Given the description of an element on the screen output the (x, y) to click on. 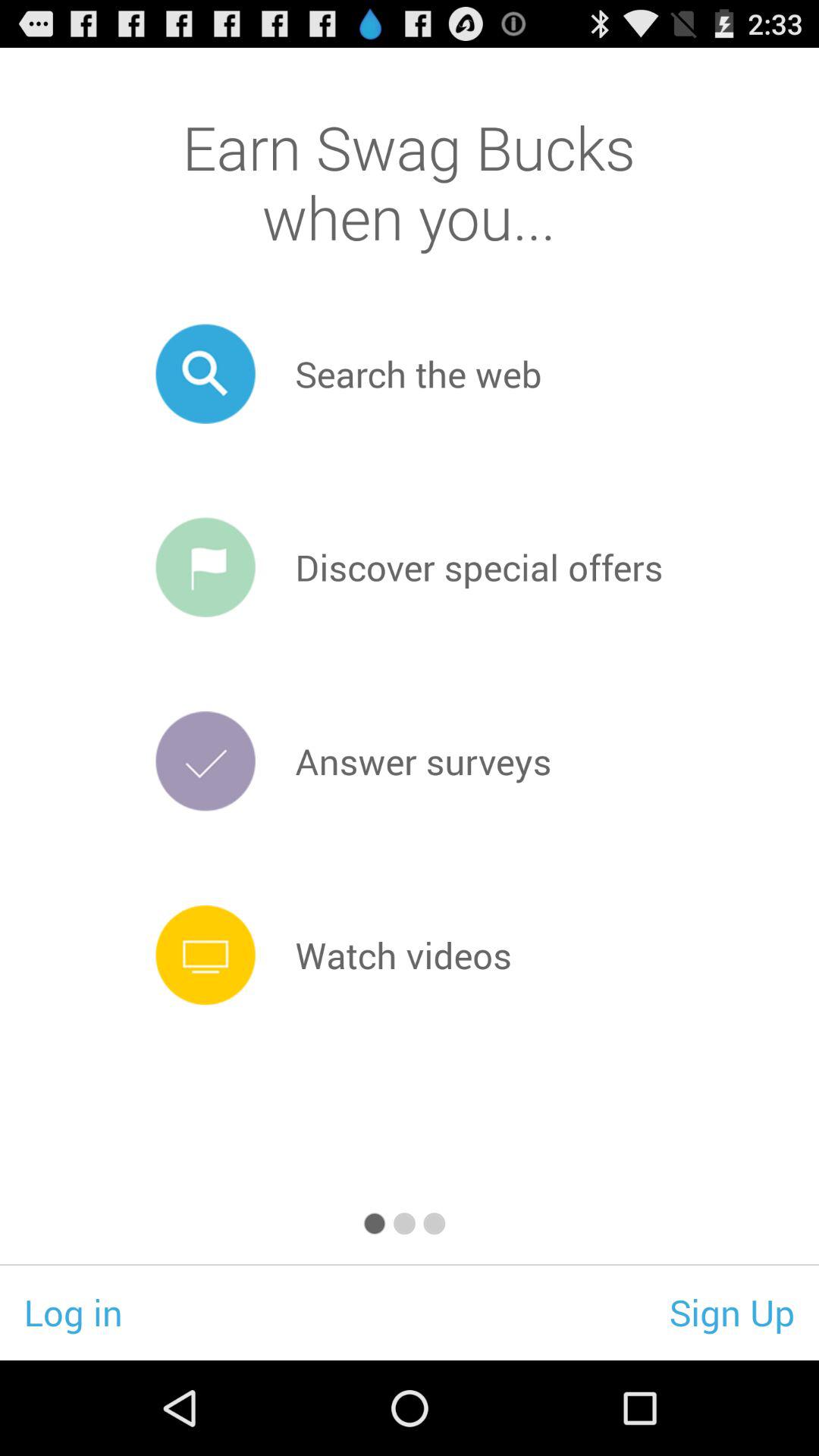
select the item to the right of log in icon (732, 1312)
